Given the description of an element on the screen output the (x, y) to click on. 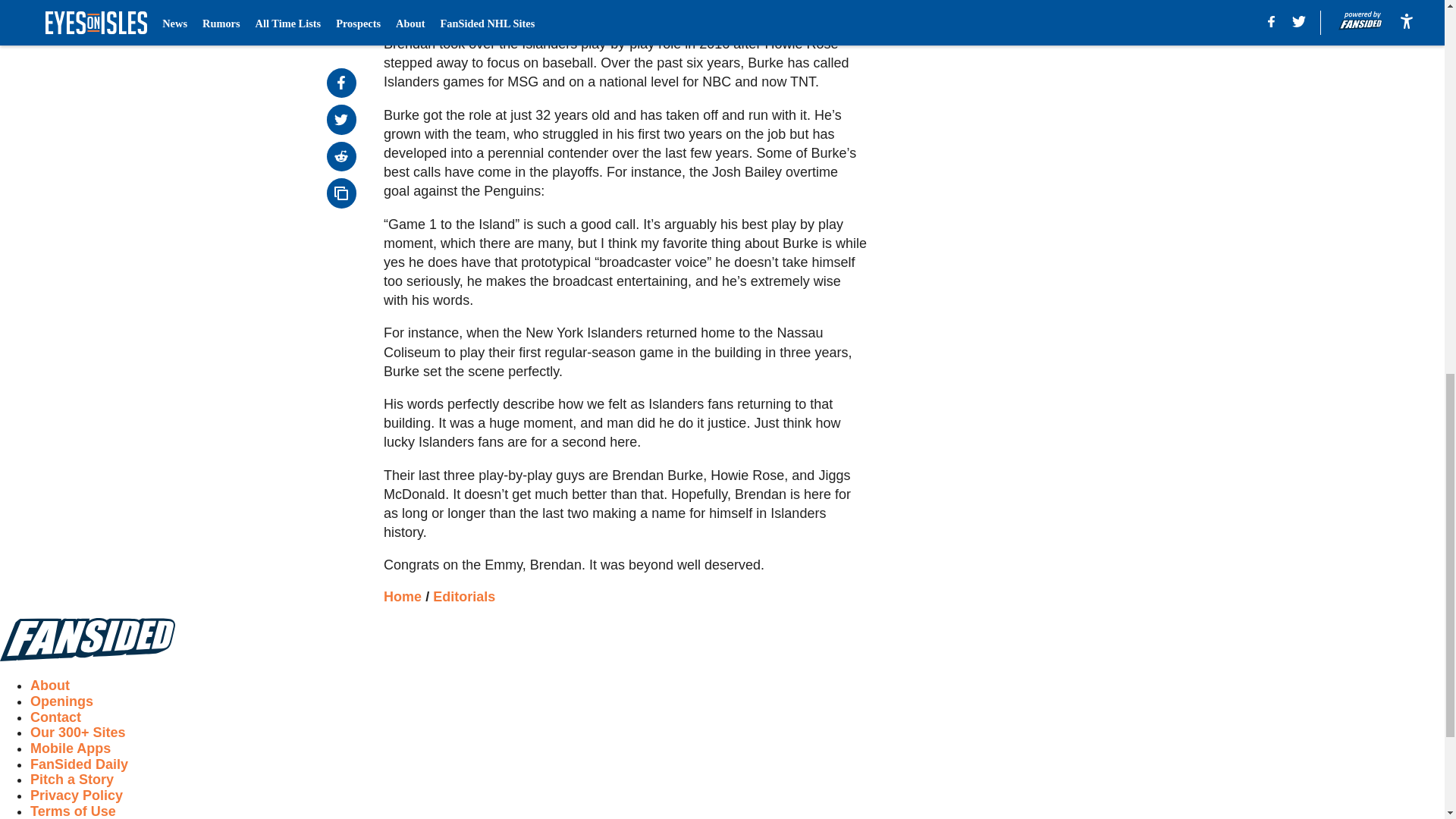
Emmy for Sports Play-By-Play (625, 9)
Contact (55, 717)
About (49, 685)
Openings (61, 701)
Mobile Apps (70, 748)
Privacy Policy (76, 795)
FanSided Daily (79, 764)
Terms of Use (73, 811)
Home (403, 595)
Editorials (463, 595)
